Given the description of an element on the screen output the (x, y) to click on. 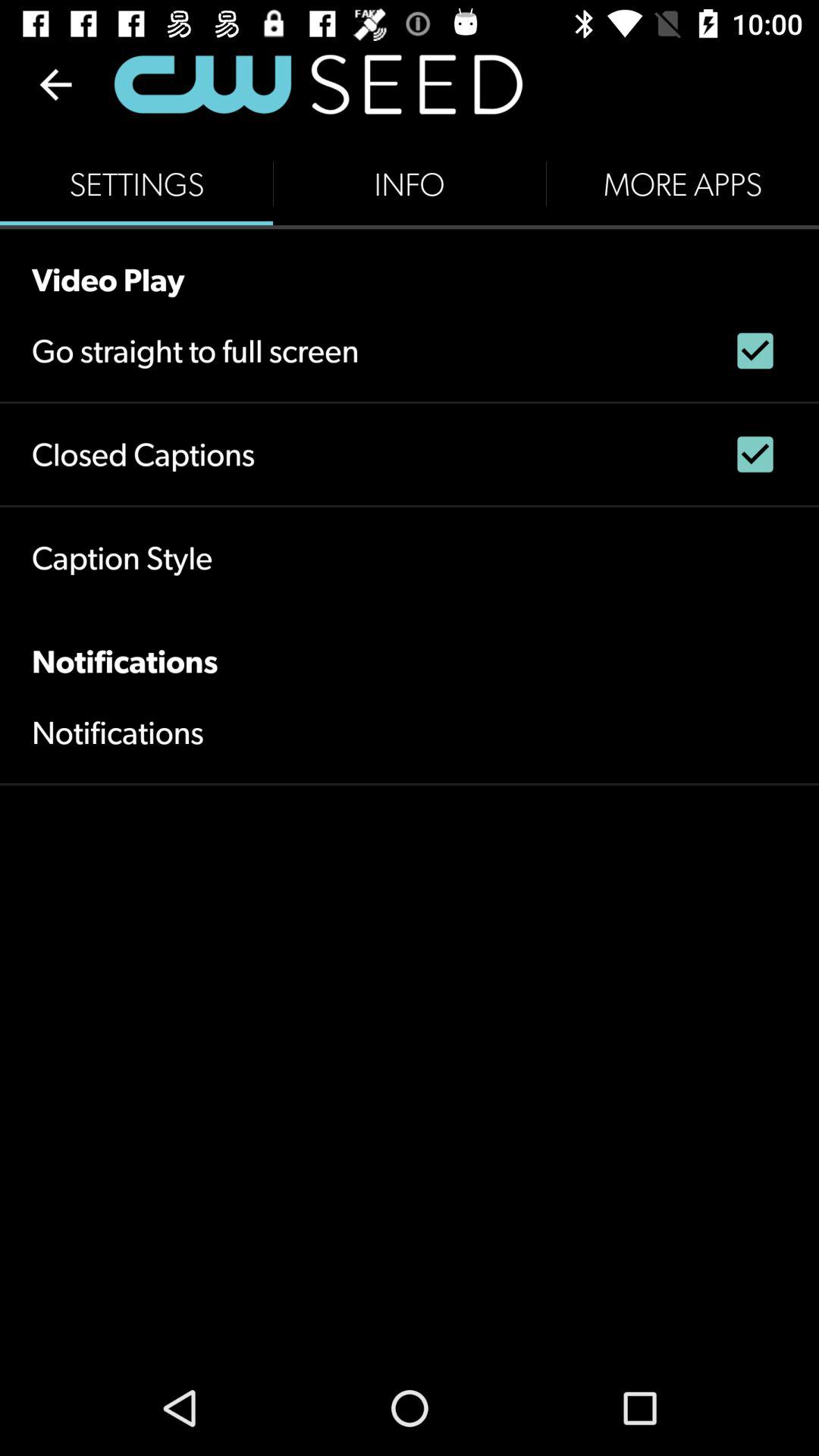
open the icon above settings icon (55, 84)
